Given the description of an element on the screen output the (x, y) to click on. 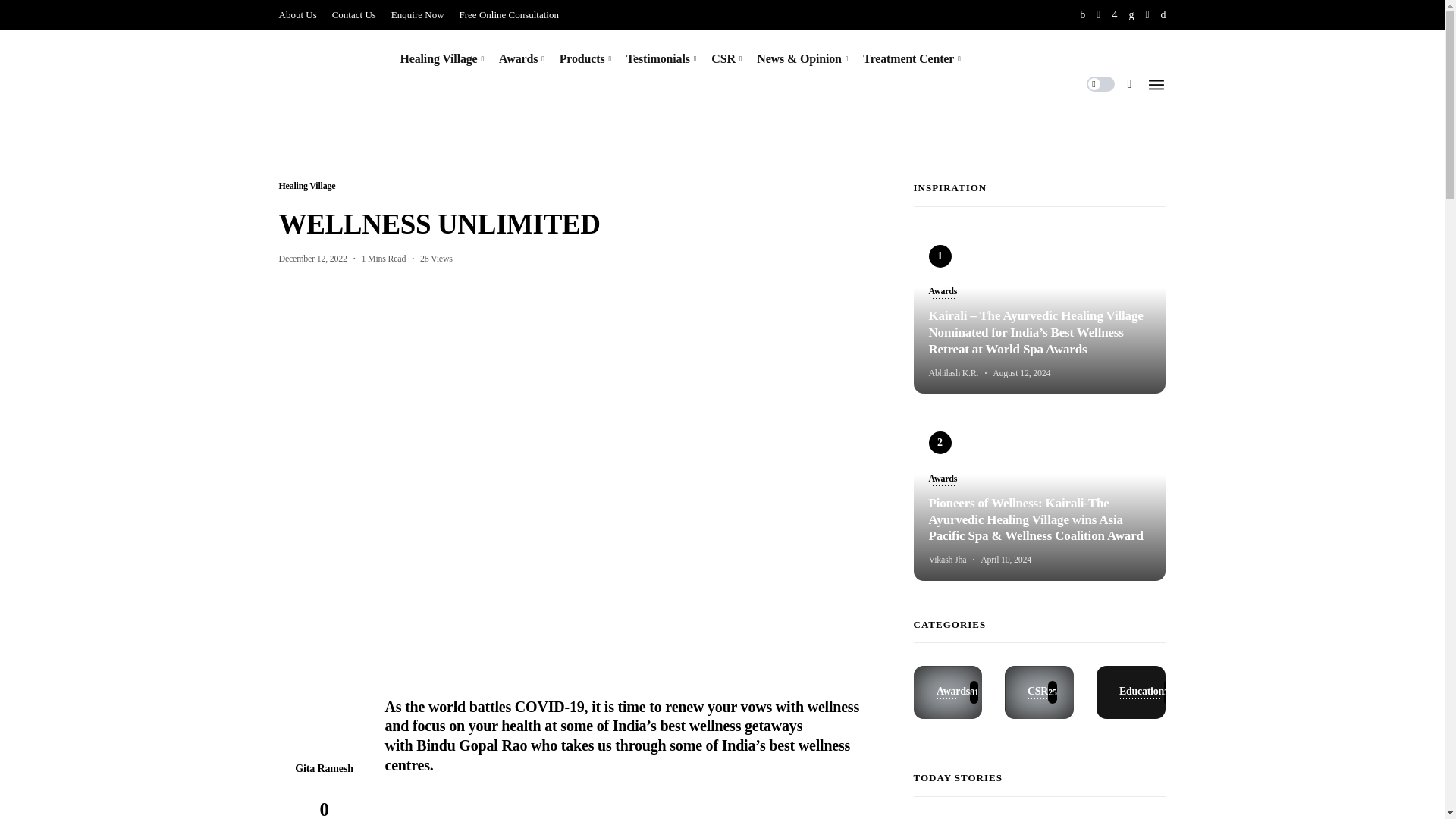
About Us (298, 15)
Healing Village (442, 58)
Enquire Now (417, 15)
Free Online Consultation (509, 15)
Contact Us (353, 15)
